Given the description of an element on the screen output the (x, y) to click on. 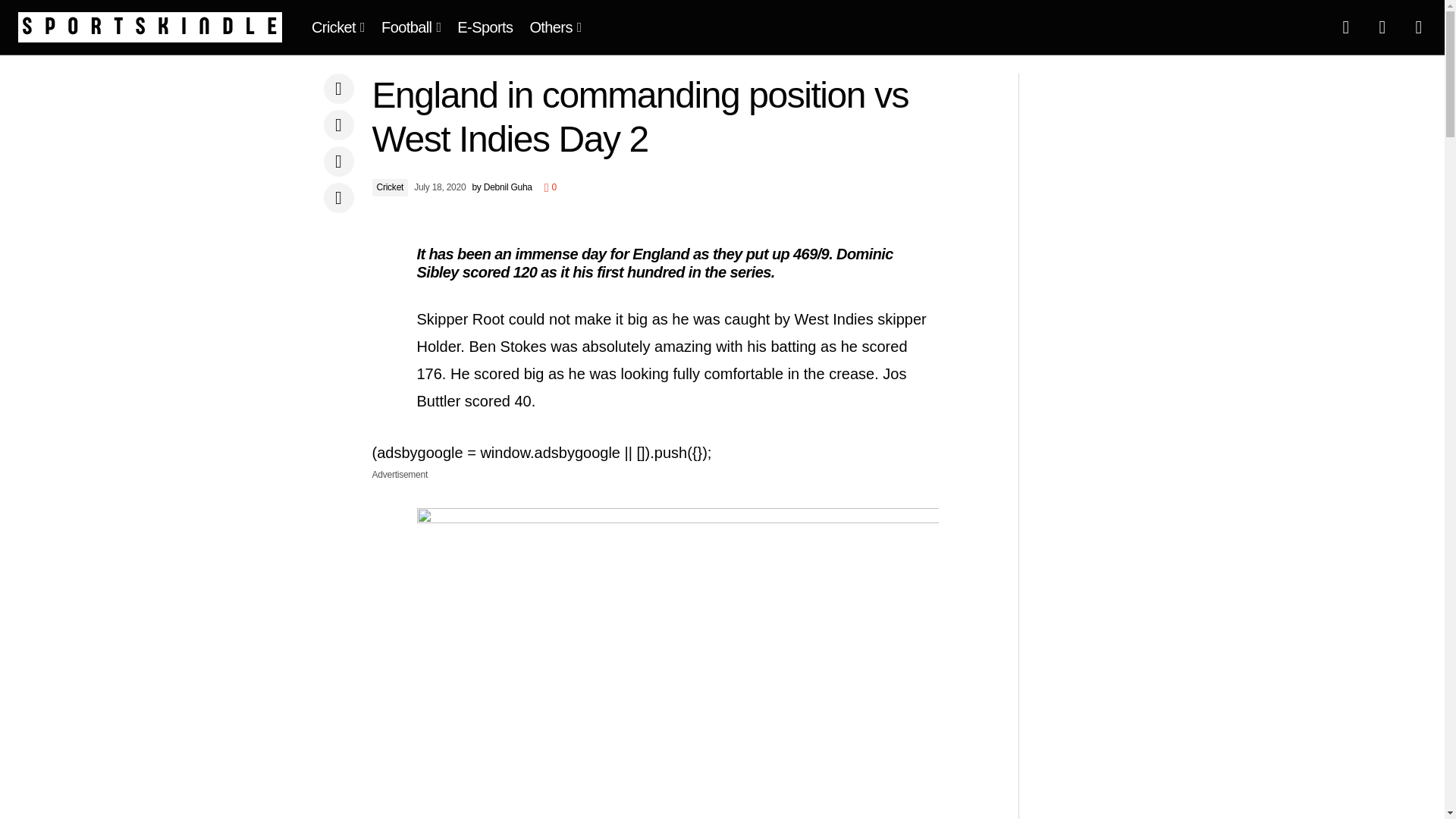
Football (410, 27)
Cricket (337, 27)
E-Sports (484, 27)
